Given the description of an element on the screen output the (x, y) to click on. 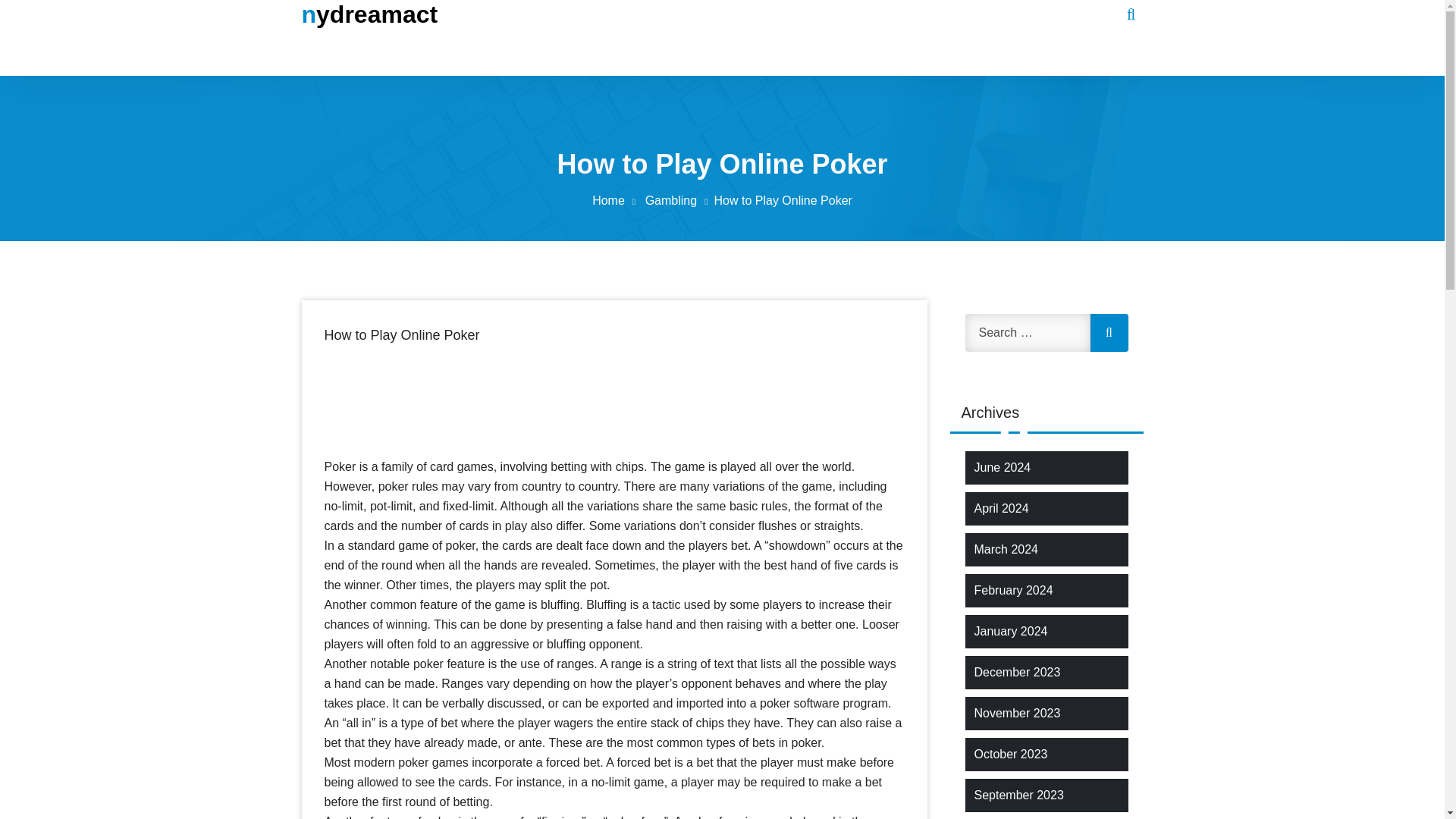
November 2023 (1016, 713)
April 2024 (1000, 508)
January 2024 (1010, 631)
March 2024 (1006, 549)
October 2023 (1010, 754)
Gambling (679, 200)
Home (617, 200)
nydreamact (369, 14)
September 2023 (1018, 795)
June 2024 (1002, 467)
December 2023 (1016, 672)
February 2024 (1013, 590)
